Given the description of an element on the screen output the (x, y) to click on. 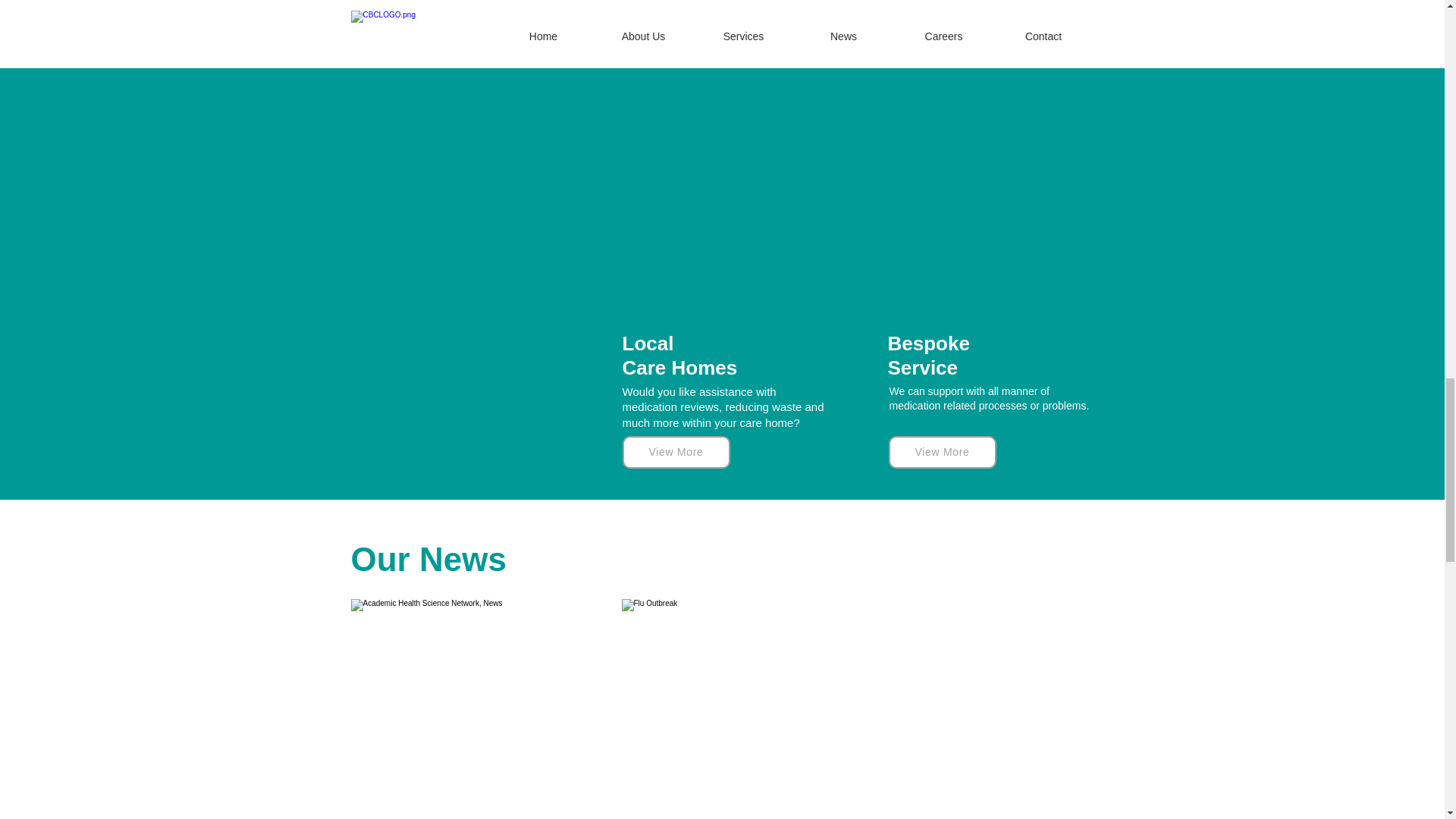
View More (941, 31)
View More (675, 451)
View More (672, 31)
View More (941, 451)
